Given the description of an element on the screen output the (x, y) to click on. 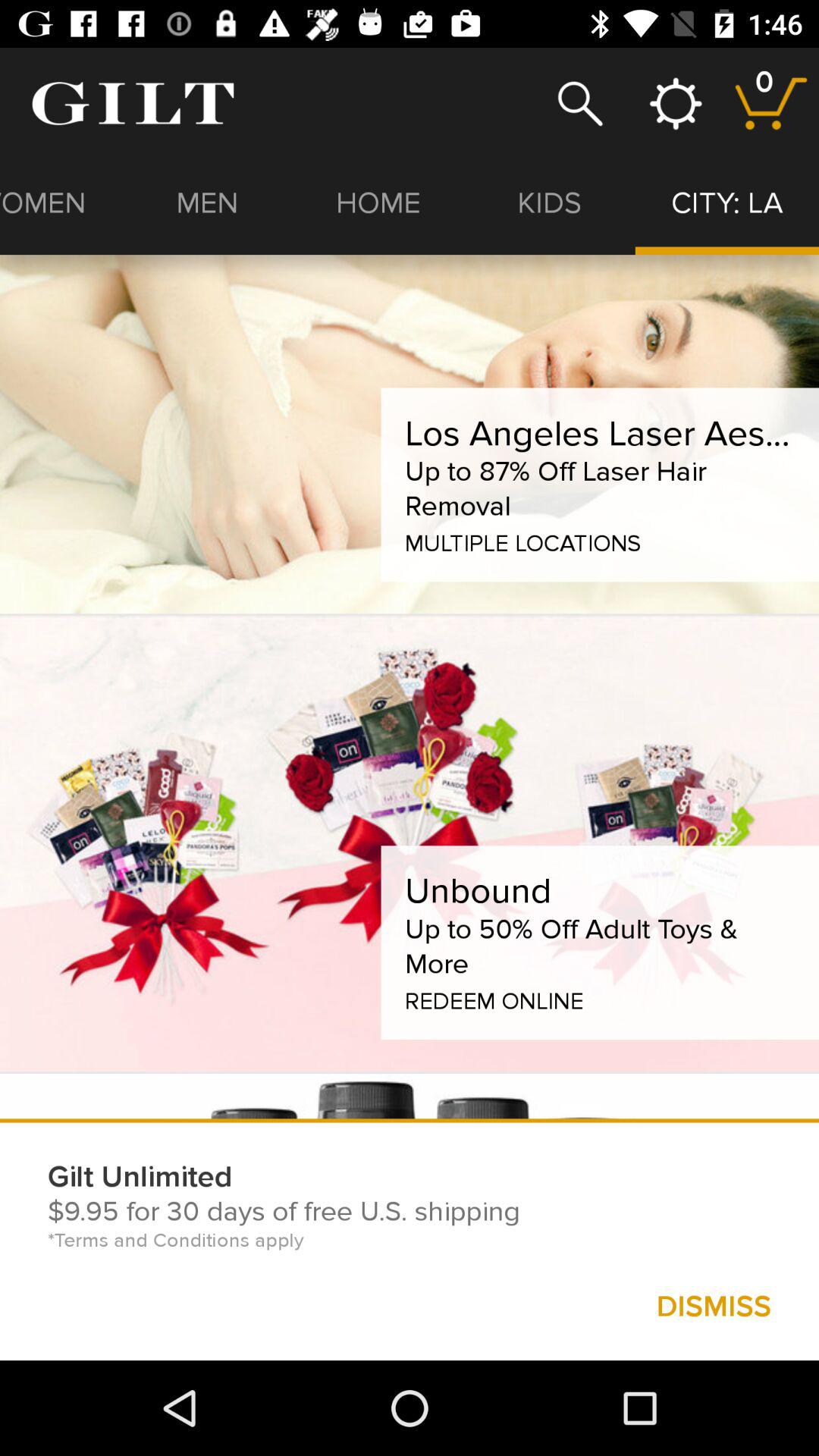
click icon above up to 87 (599, 433)
